Given the description of an element on the screen output the (x, y) to click on. 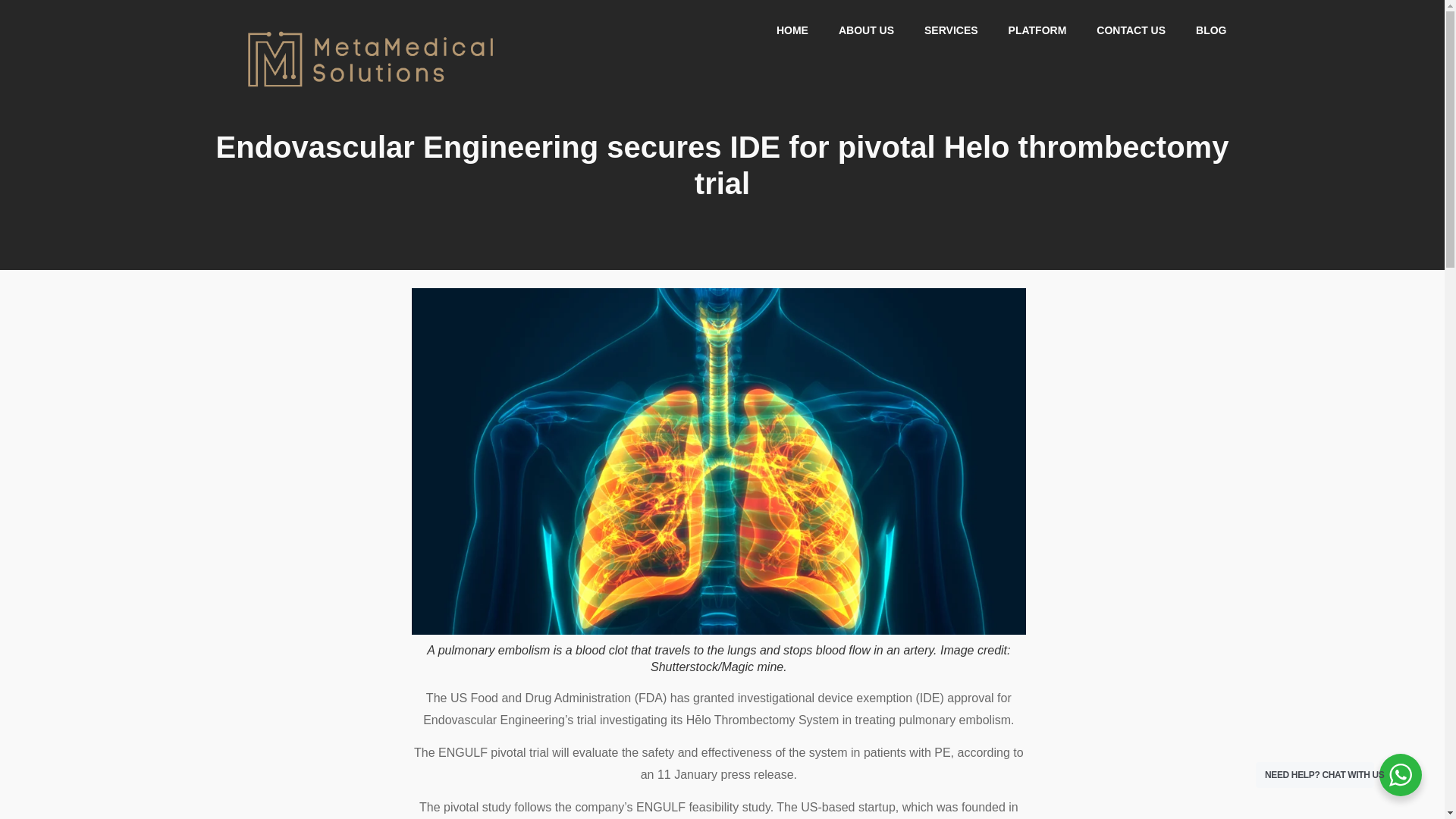
NEED HELP? CHAT WITH US (1400, 774)
SERVICES (950, 30)
CONTACT US (1130, 30)
PLATFORM (1036, 30)
ABOUT US (866, 30)
HOME (792, 30)
BLOG (1210, 30)
